Given the description of an element on the screen output the (x, y) to click on. 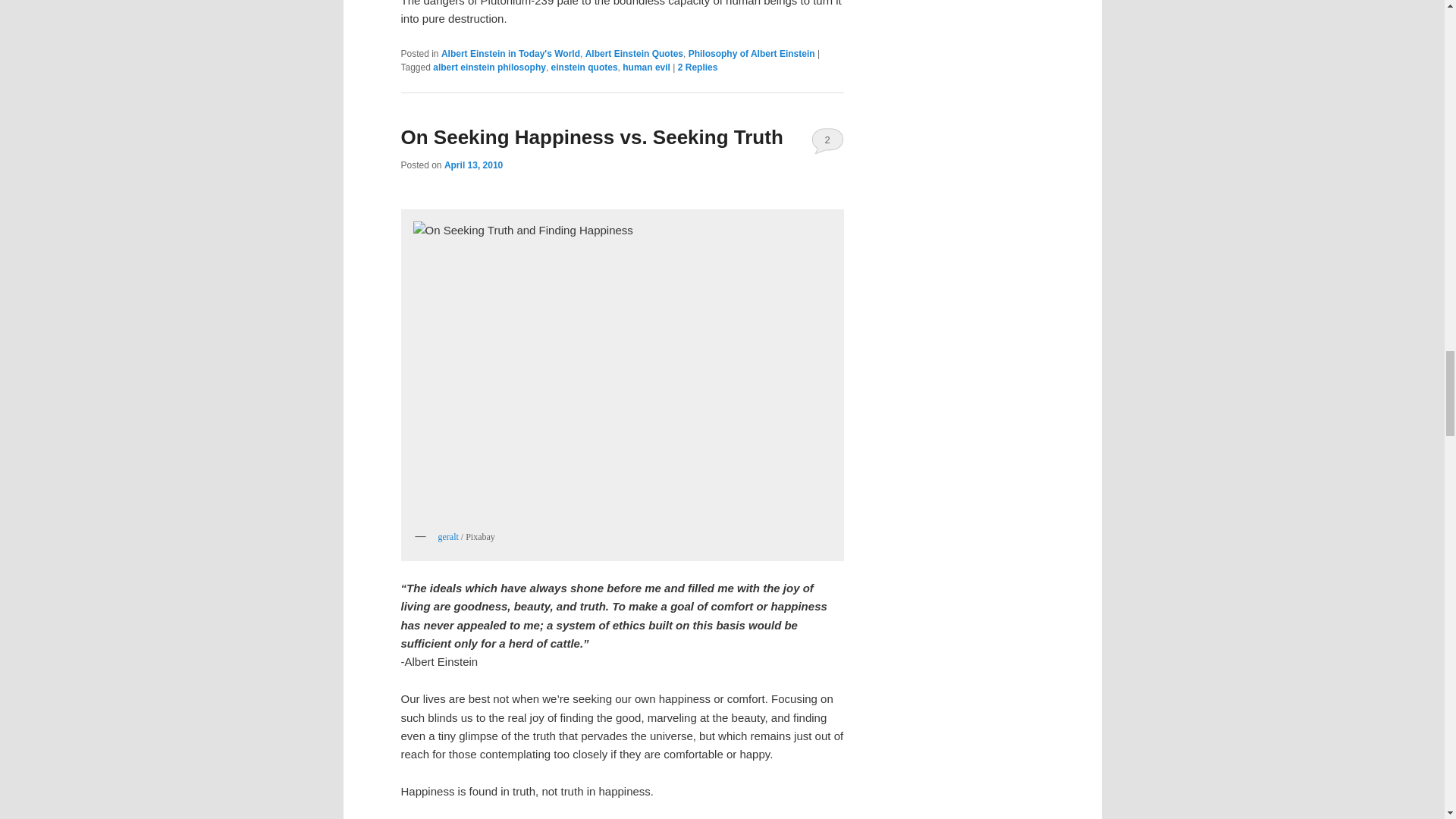
7:48 pm (473, 164)
